Given the description of an element on the screen output the (x, y) to click on. 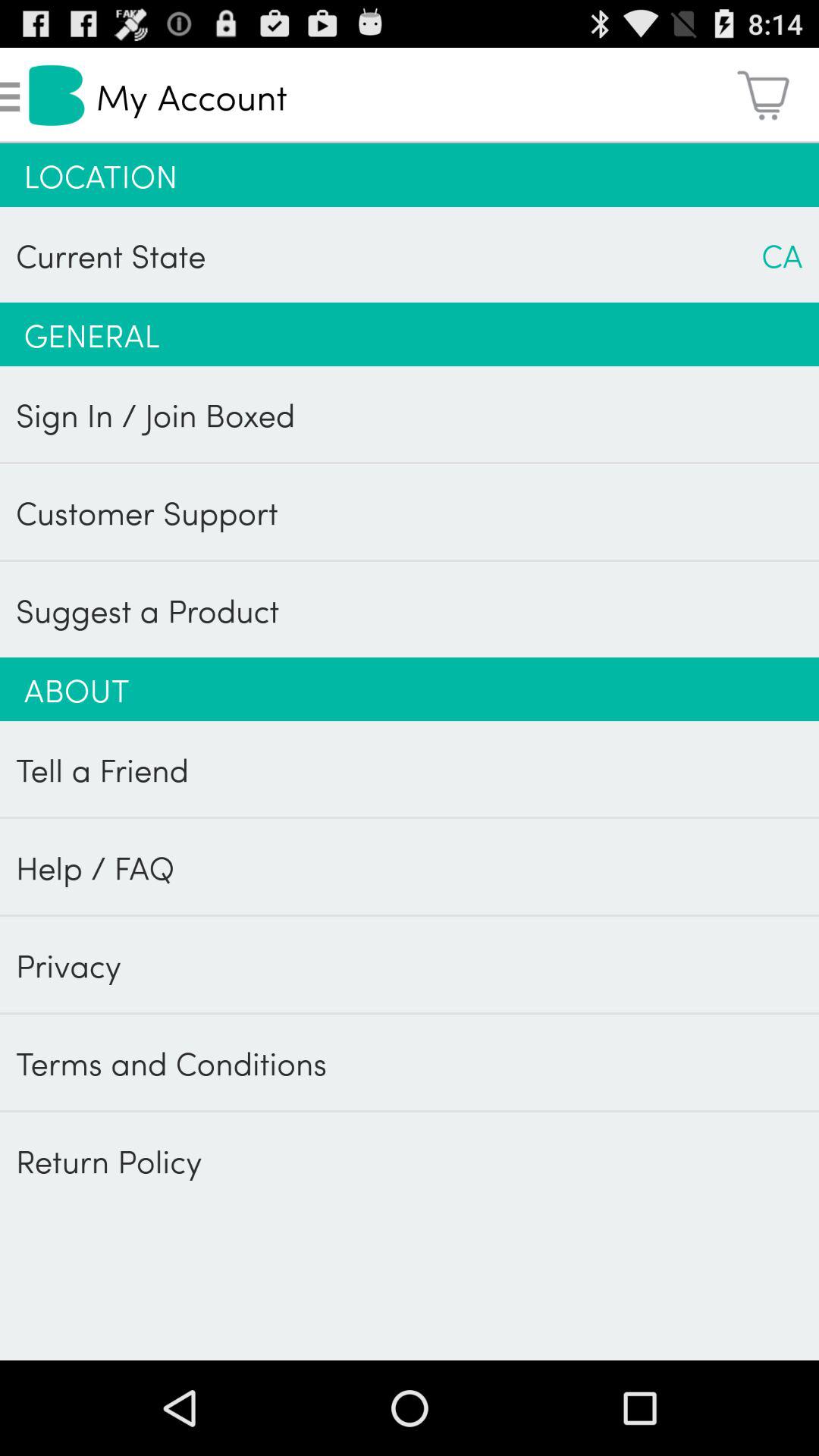
jump to general item (409, 334)
